Given the description of an element on the screen output the (x, y) to click on. 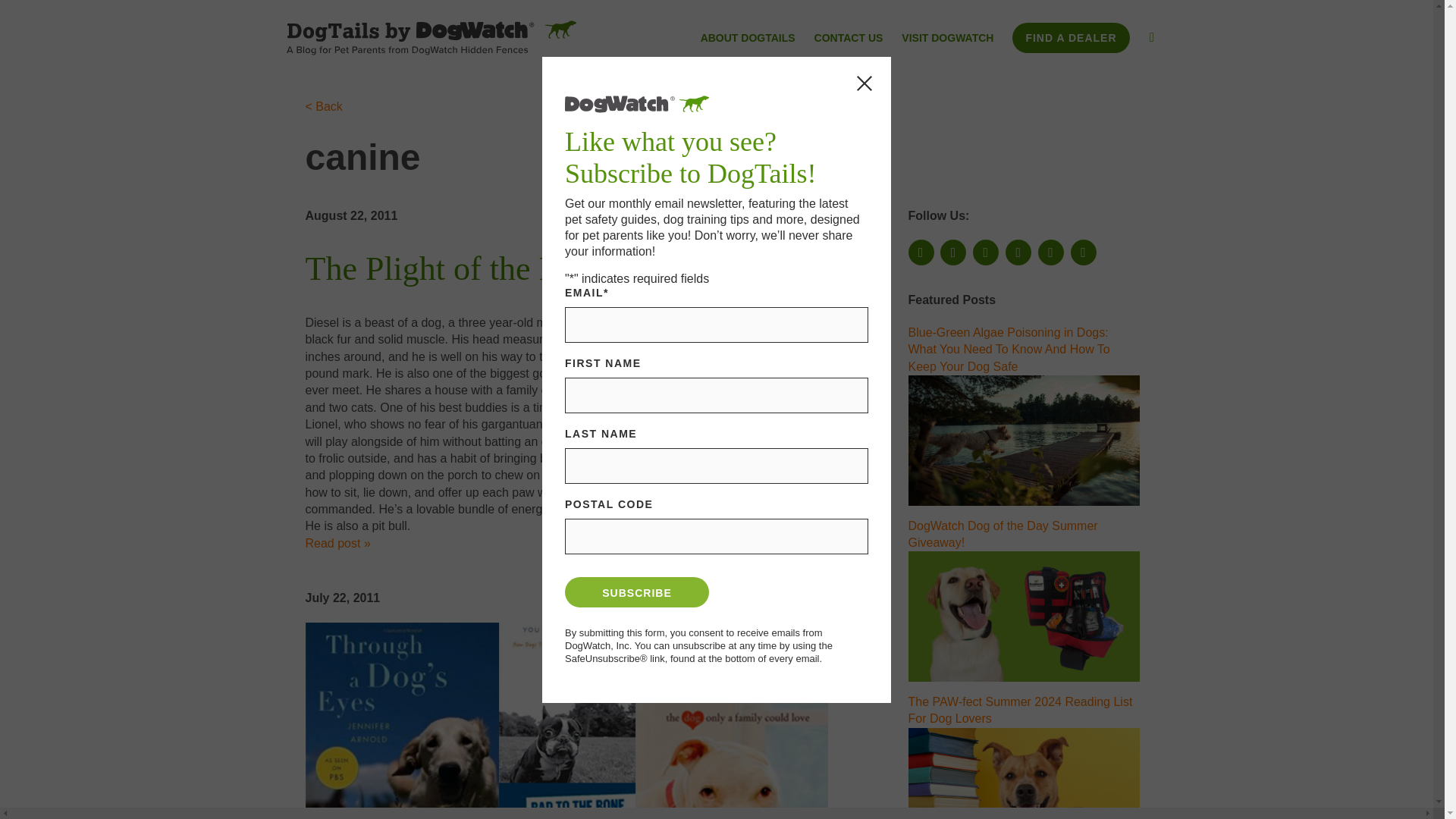
DogWatch Hidden Fence Systems facebook (921, 252)
Visit DogWatch (946, 38)
About DogTails (747, 38)
DogWatch Hidden Fence Twitter Facebook (953, 252)
Contact Us (848, 38)
Find a Dealer (1070, 37)
DogWatch Dog of the Day Summer Giveaway! (1002, 532)
The Plight of the Pit Bull (473, 268)
DogWatch Hidden Fence Systems Rss (1018, 252)
The PAW-fect Summer 2024 Reading List For Dog Lovers (1024, 773)
Site Search (1150, 38)
The PAW-fect Summer 2024 Reading List For Dog Lovers (1020, 709)
FIND A DEALER (1070, 37)
DogWatch Hidden Fence Systems YouTube (985, 252)
DogWatch Dog of the Day Summer Giveaway! (1024, 616)
